Given the description of an element on the screen output the (x, y) to click on. 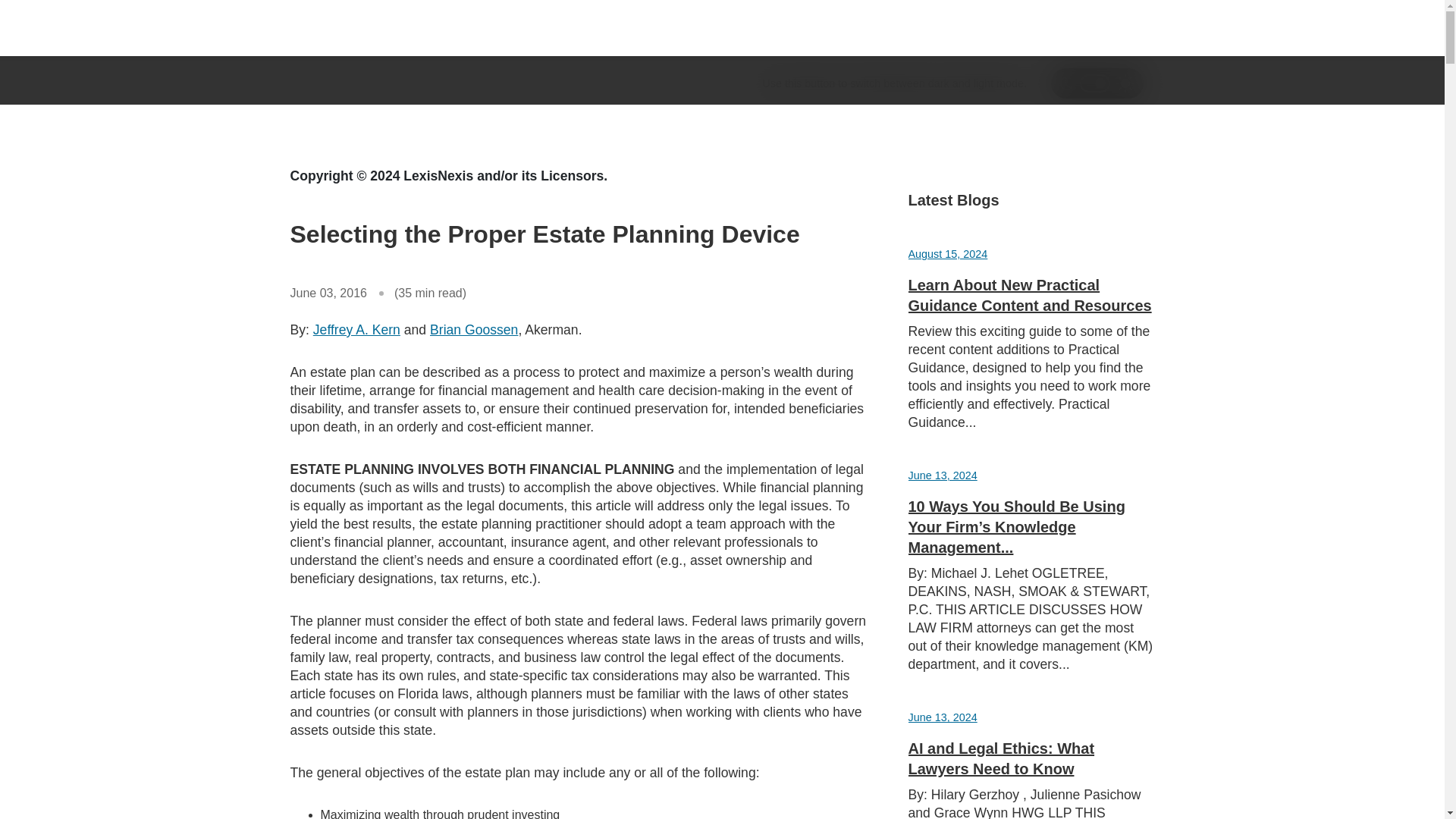
June 13, 2024 (942, 475)
Brian Goossen (473, 329)
June 13, 2024 (942, 717)
Learn About New Practical Guidance Content and Resources (1029, 294)
Jeffrey A. Kern (356, 329)
August 15, 2024 (948, 254)
AI and Legal Ethics: What Lawyers Need to Know (1001, 758)
